Given the description of an element on the screen output the (x, y) to click on. 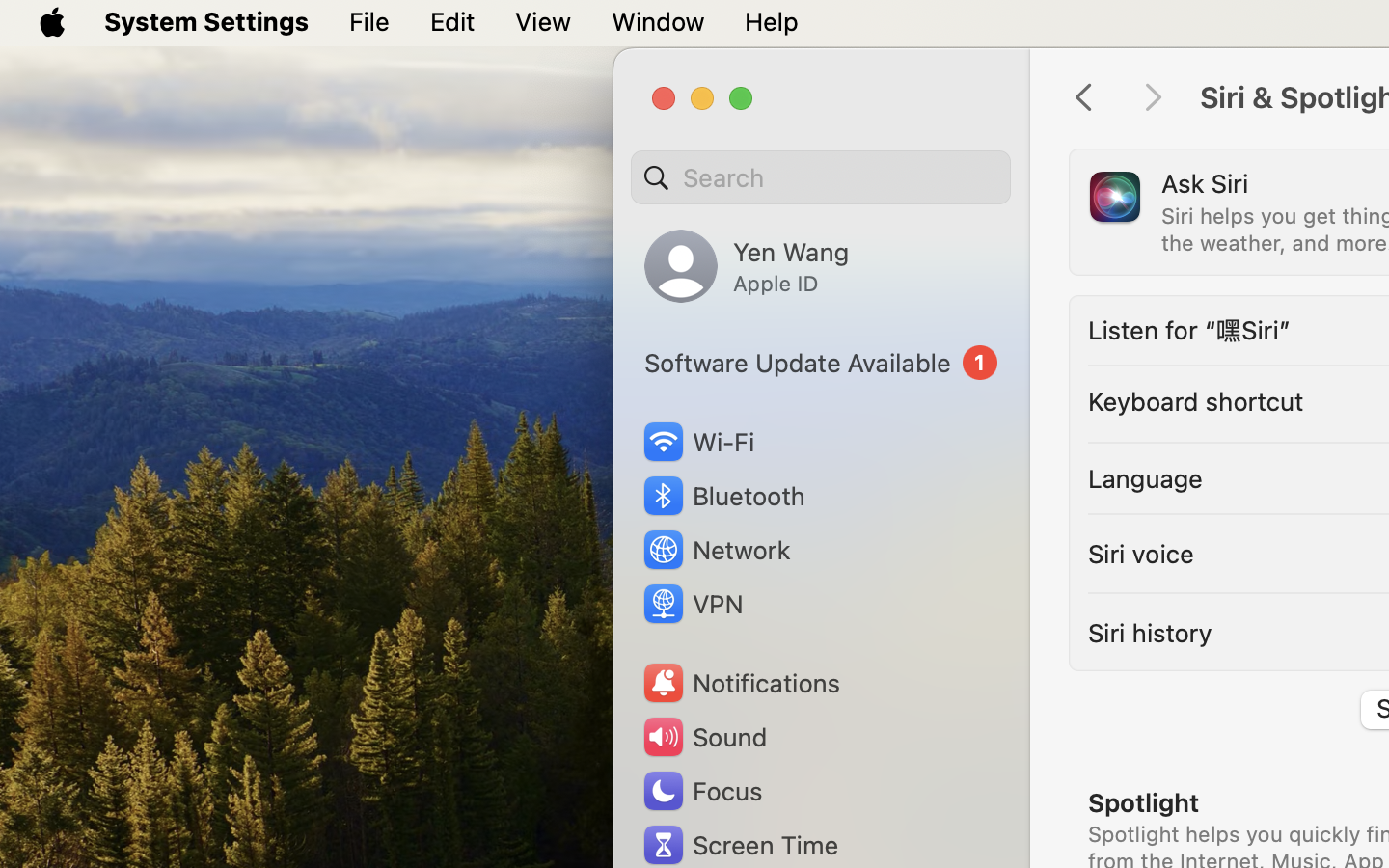
Network Element type: AXStaticText (715, 549)
